Given the description of an element on the screen output the (x, y) to click on. 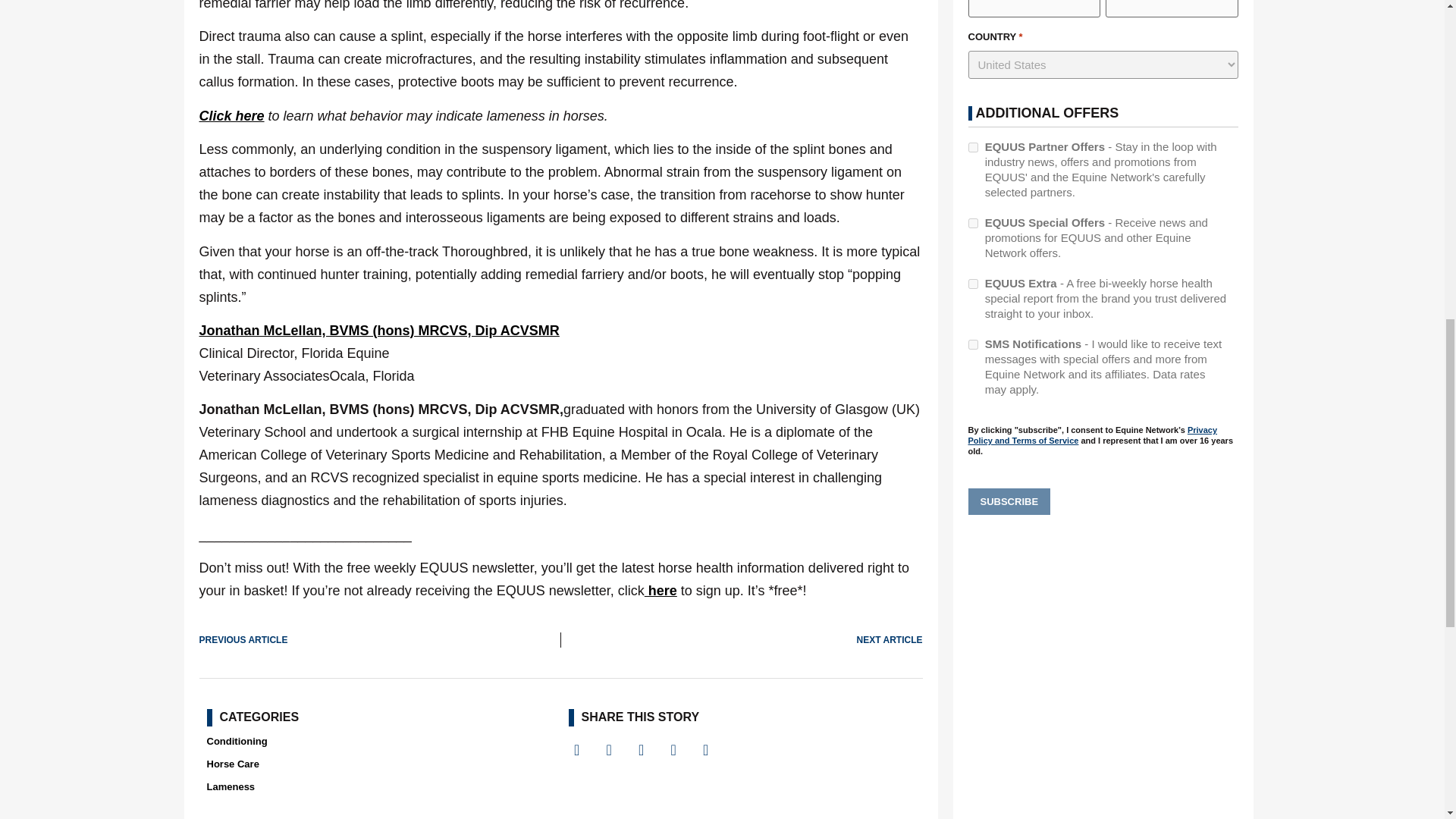
0cd2e389-c43e-4146-b3bb-59ab437fd8f4 (972, 284)
52f26a8f-e5be-4237-a9cb-227d8912a511 (972, 147)
SMS Notifications (972, 344)
591f5baa-e9c3-40bf-bf02-f5923680caa3 (972, 223)
Subscribe (1008, 501)
